Given the description of an element on the screen output the (x, y) to click on. 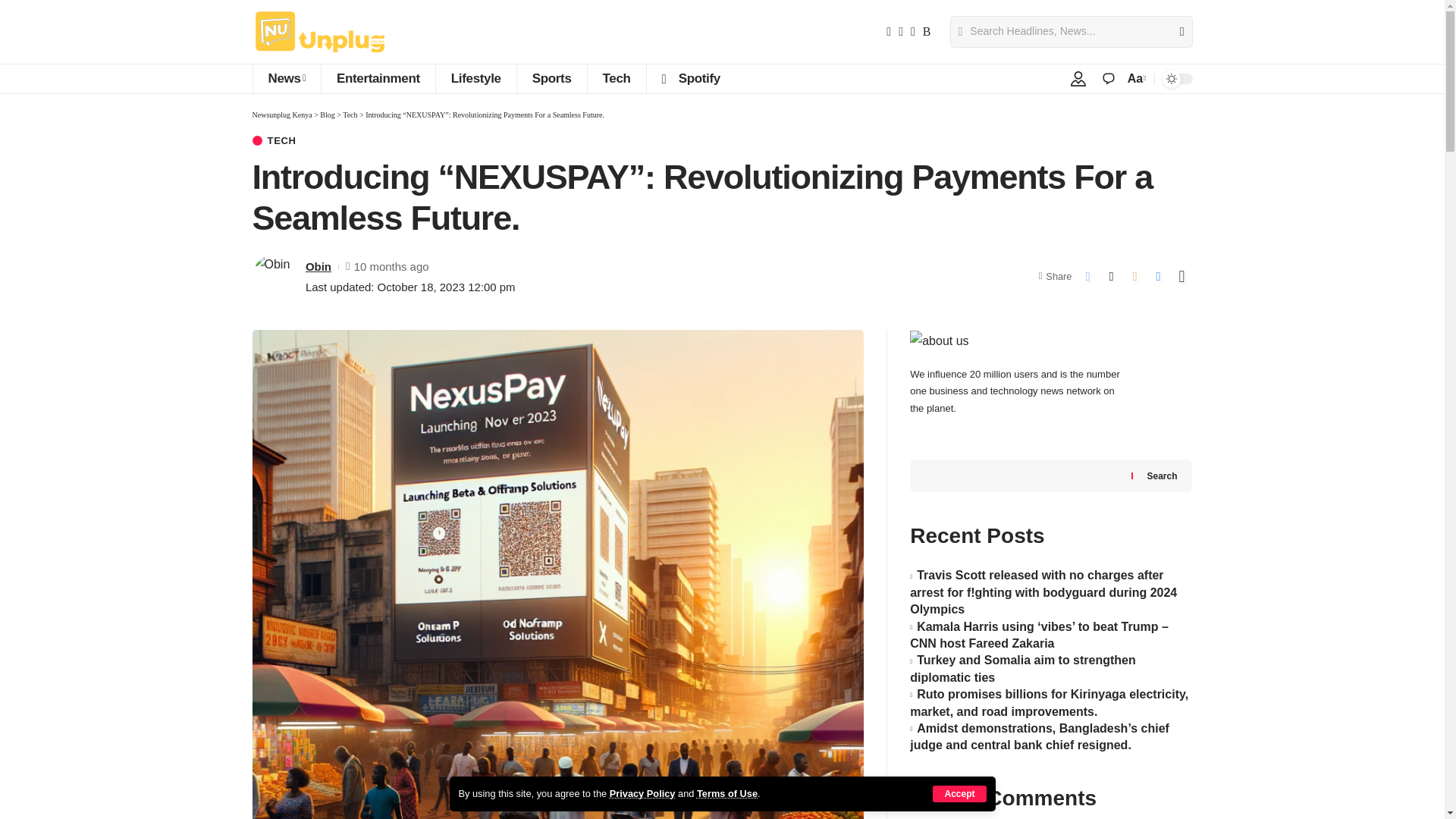
Sports (551, 78)
Aa (1135, 77)
Lifestyle (475, 78)
Search (1175, 31)
News (285, 78)
Tech (616, 78)
Accept (959, 793)
Go to the Tech Category archives. (349, 114)
Terms of Use (727, 793)
Go to Blog. (327, 114)
